Given the description of an element on the screen output the (x, y) to click on. 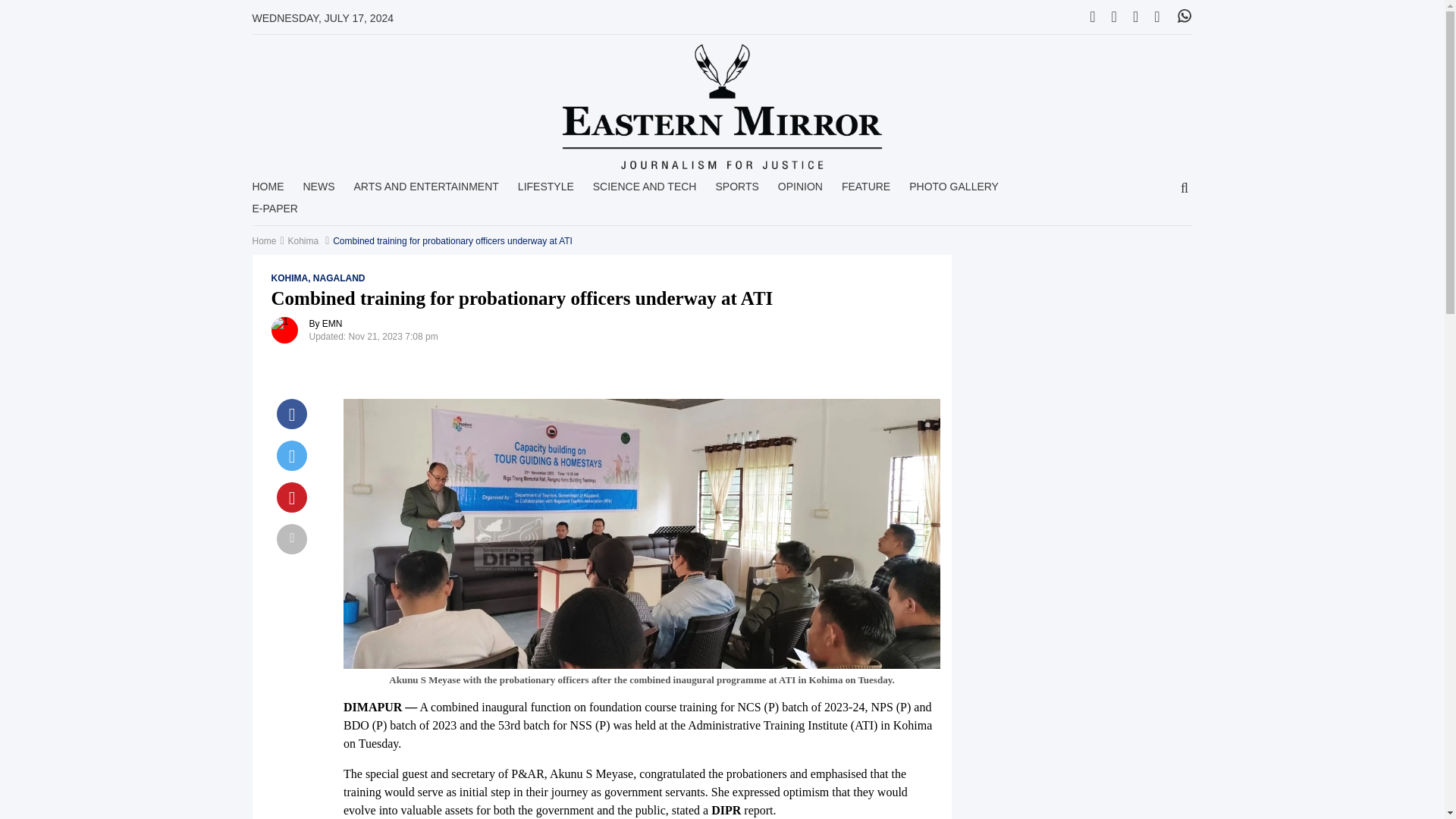
NEWS (318, 191)
HOME (267, 191)
ARTS AND ENTERTAINMENT (425, 191)
LIFESTYLE (545, 191)
Twitter (1091, 16)
Facebook (1114, 16)
GO (1184, 188)
Eastern Mirror (722, 106)
Instagram (1135, 16)
Youtube (1156, 16)
GO (1184, 188)
